Given the description of an element on the screen output the (x, y) to click on. 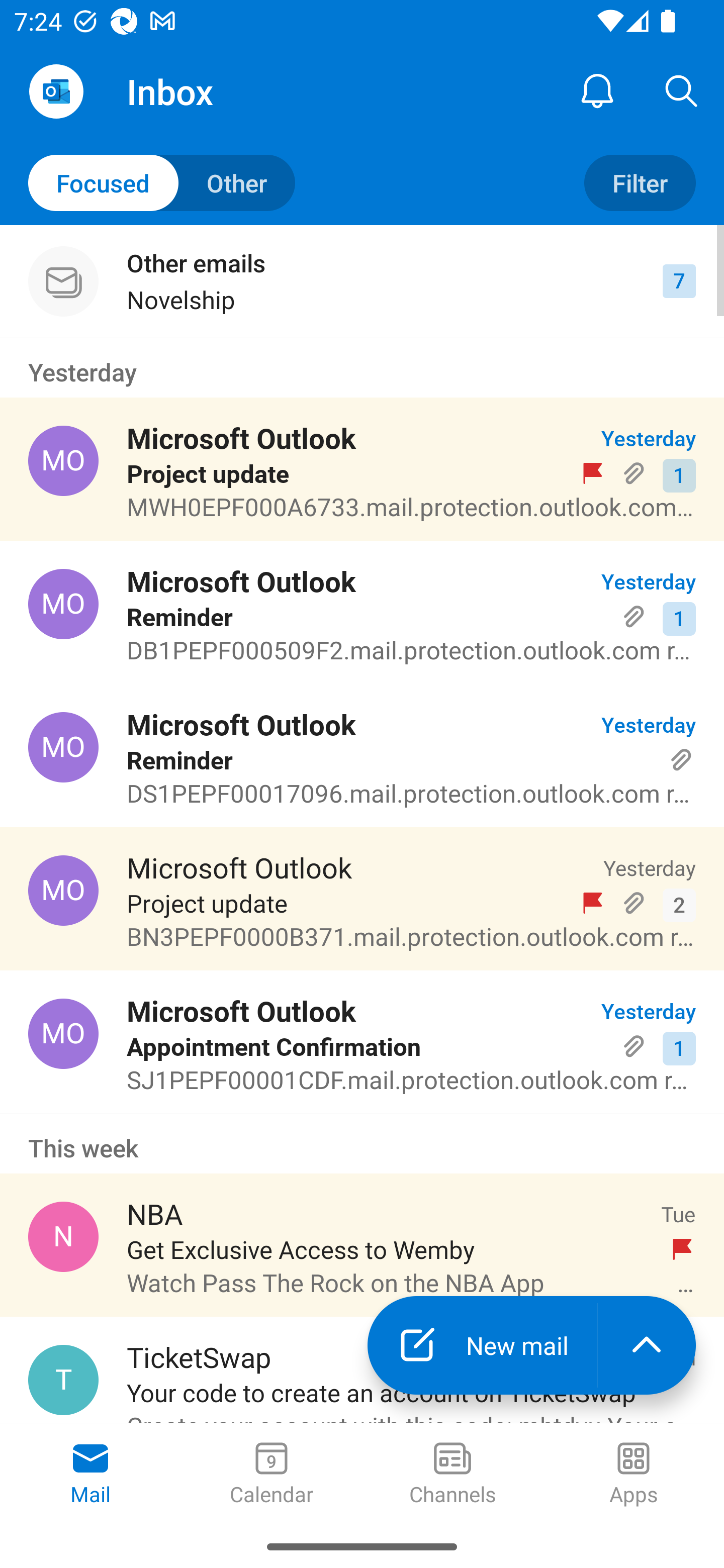
Notification Center (597, 90)
Search, ,  (681, 90)
Open Navigation Drawer (55, 91)
Toggle to other mails (161, 183)
Filter (639, 183)
Other emails Novelship 7 (362, 281)
NBA, NBA@email.nba.com (63, 1236)
New mail (481, 1344)
launch the extended action menu (646, 1344)
TicketSwap, info@ticketswap.com (63, 1380)
Calendar (271, 1474)
Channels (452, 1474)
Apps (633, 1474)
